Given the description of an element on the screen output the (x, y) to click on. 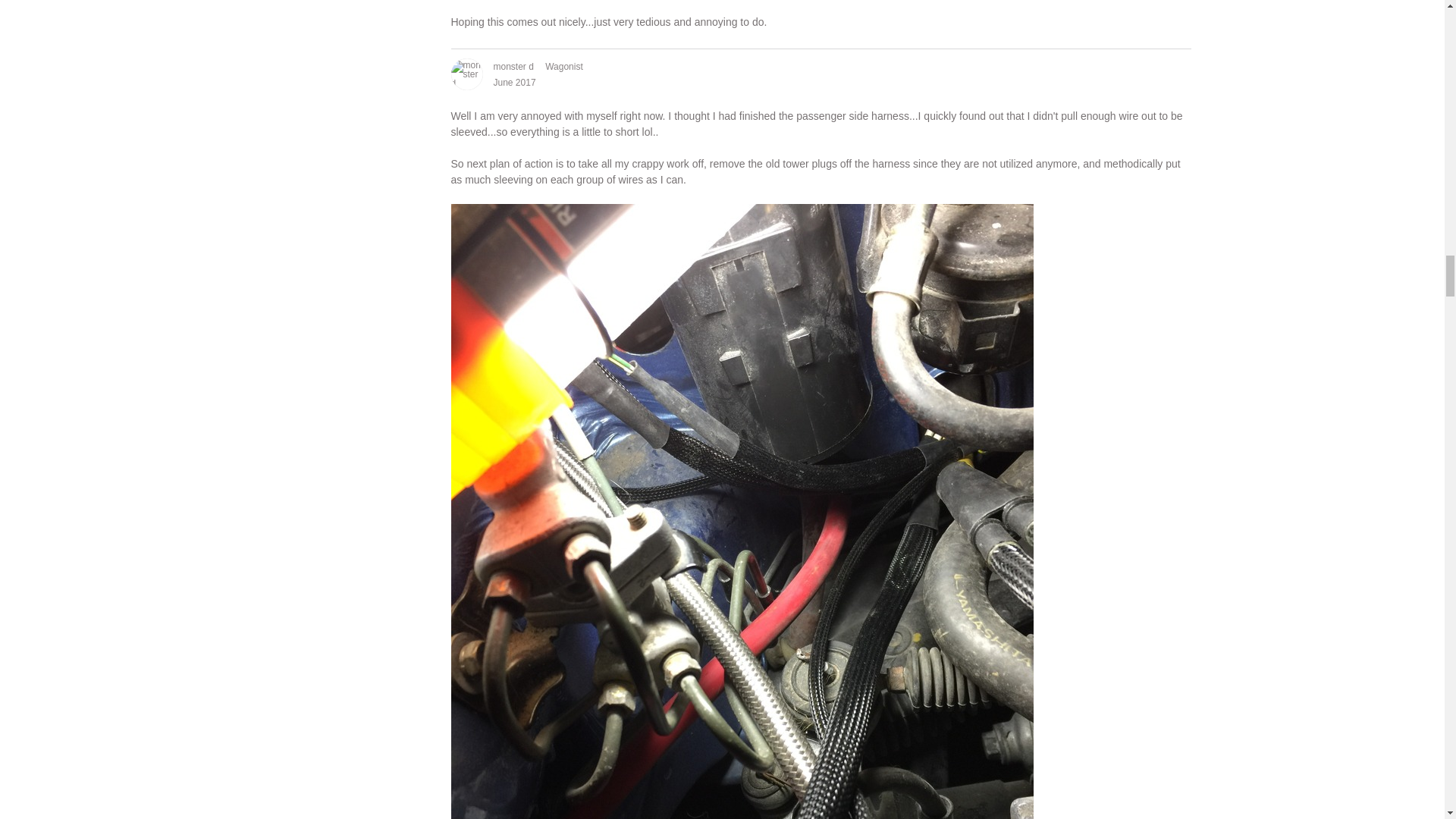
monster d (465, 74)
June 9, 2017 7:01PM (514, 81)
